Given the description of an element on the screen output the (x, y) to click on. 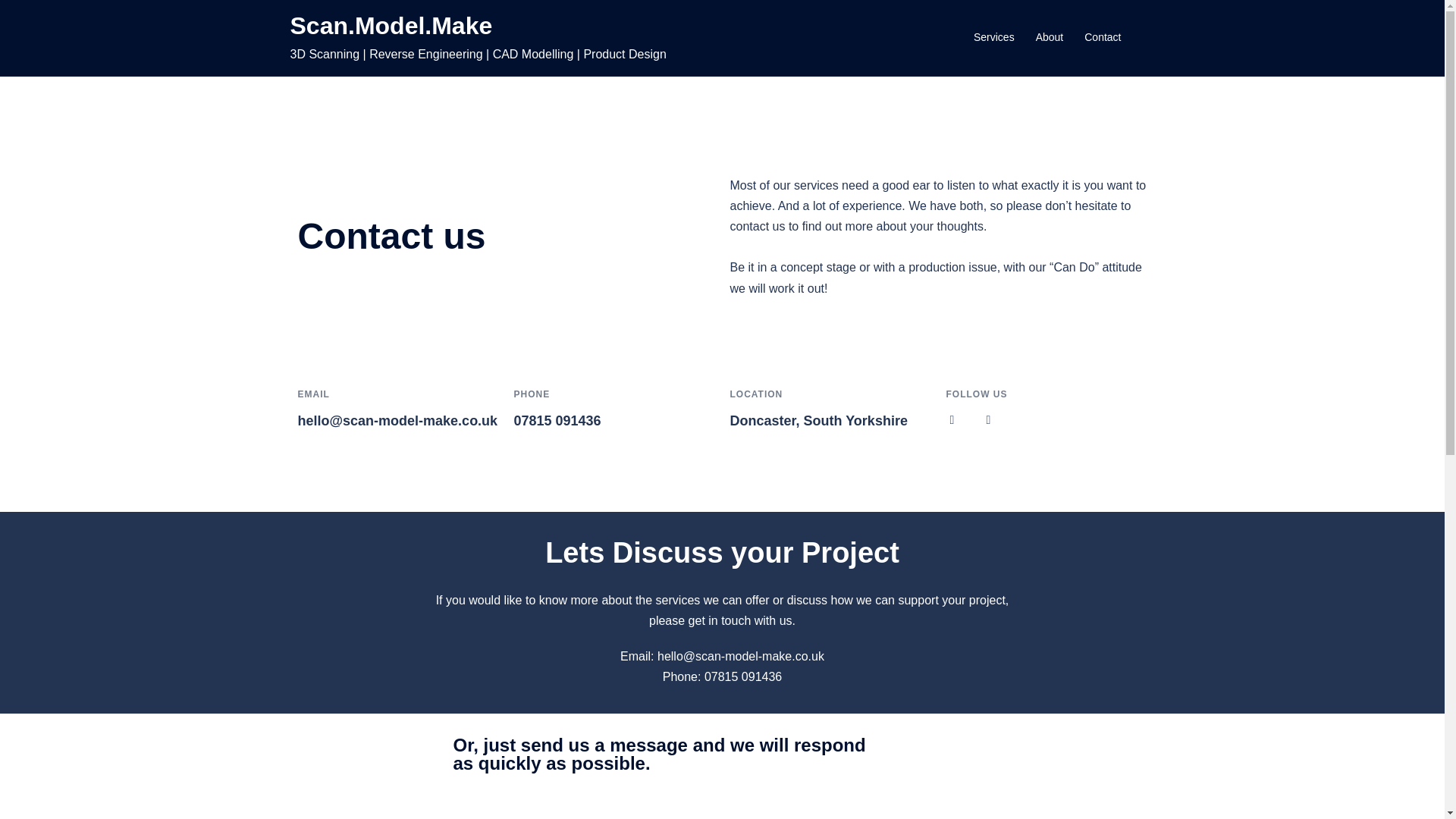
About (1049, 37)
Services (994, 37)
Contact (1102, 37)
Scan.Model.Make (390, 25)
